Given the description of an element on the screen output the (x, y) to click on. 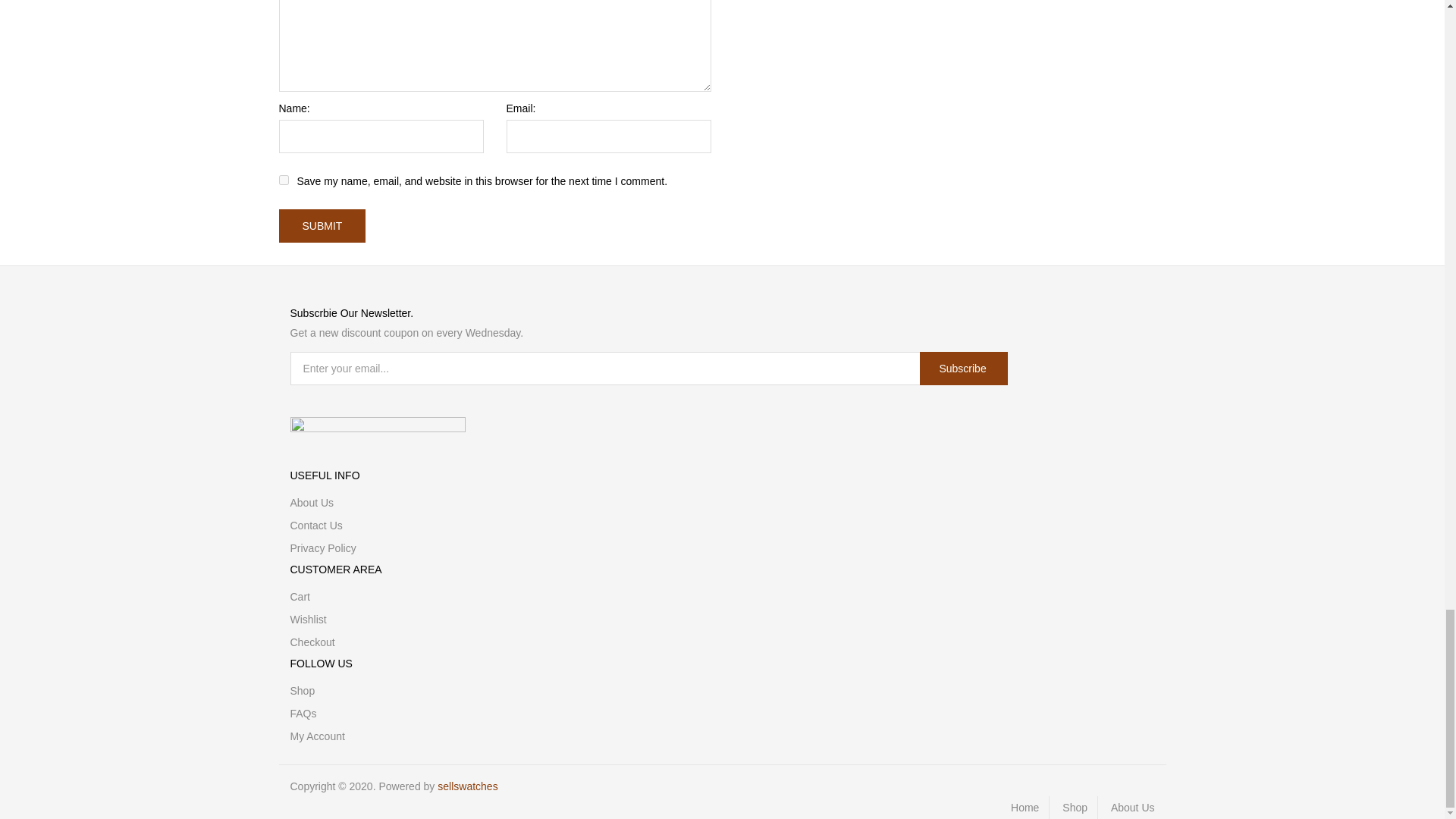
yes (283, 180)
submit (322, 225)
subscribe (963, 368)
payments (376, 425)
